Given the description of an element on the screen output the (x, y) to click on. 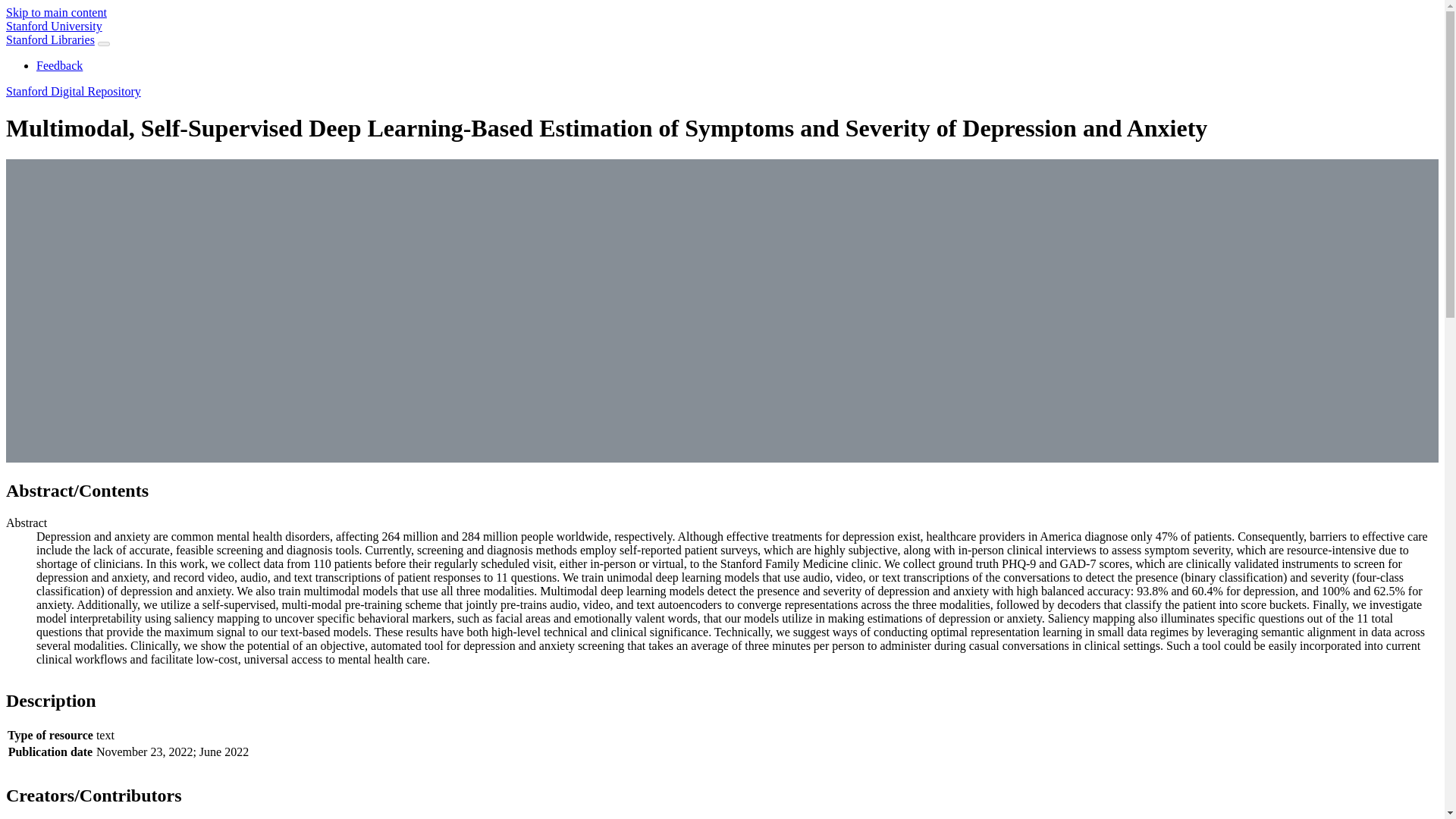
Stanford Libraries (49, 39)
Stanford University (53, 25)
Skip to main content (55, 11)
Stanford Digital Repository (73, 91)
Feedback (59, 65)
